Given the description of an element on the screen output the (x, y) to click on. 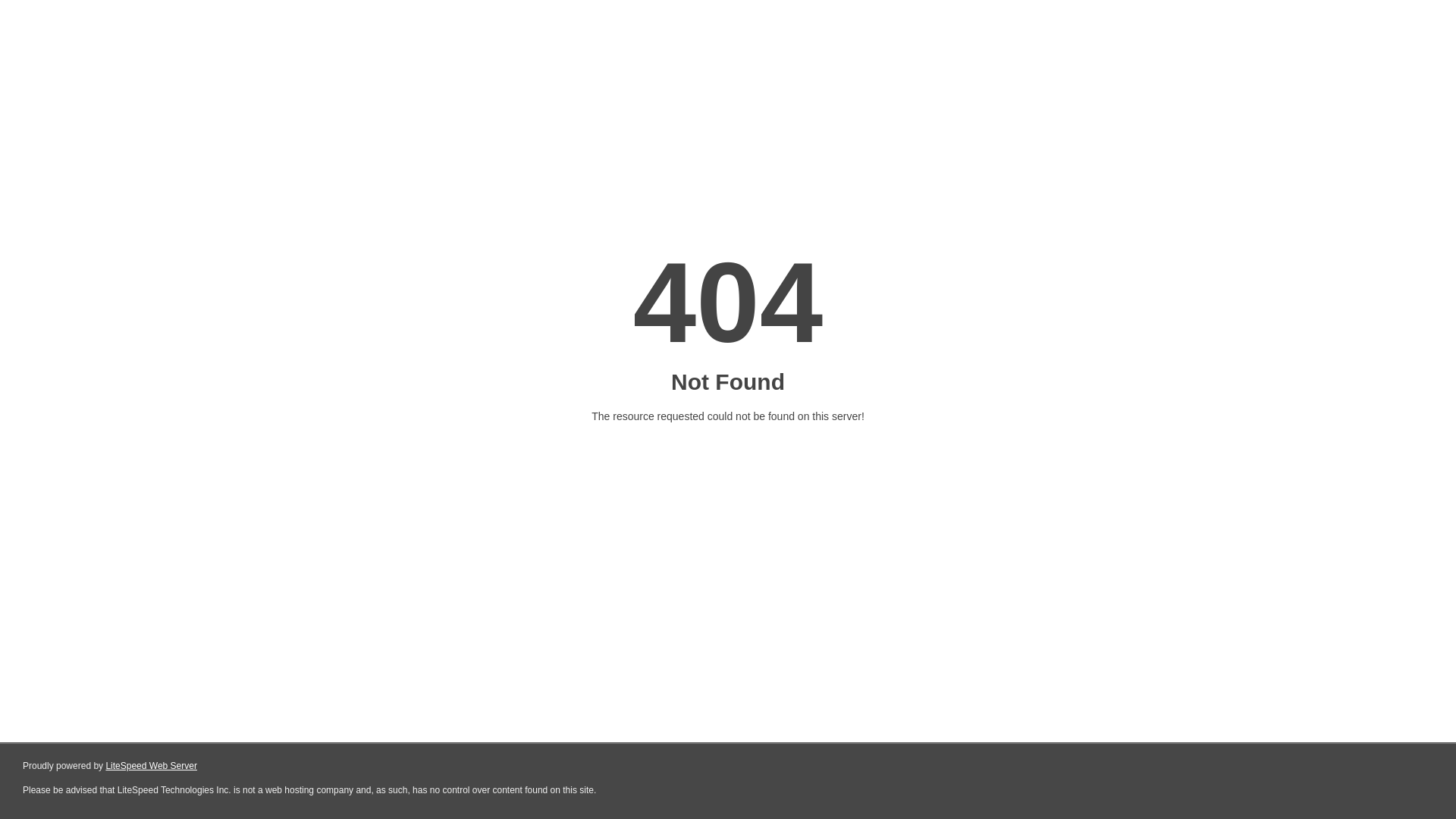
LiteSpeed Web Server Element type: text (151, 765)
